Given the description of an element on the screen output the (x, y) to click on. 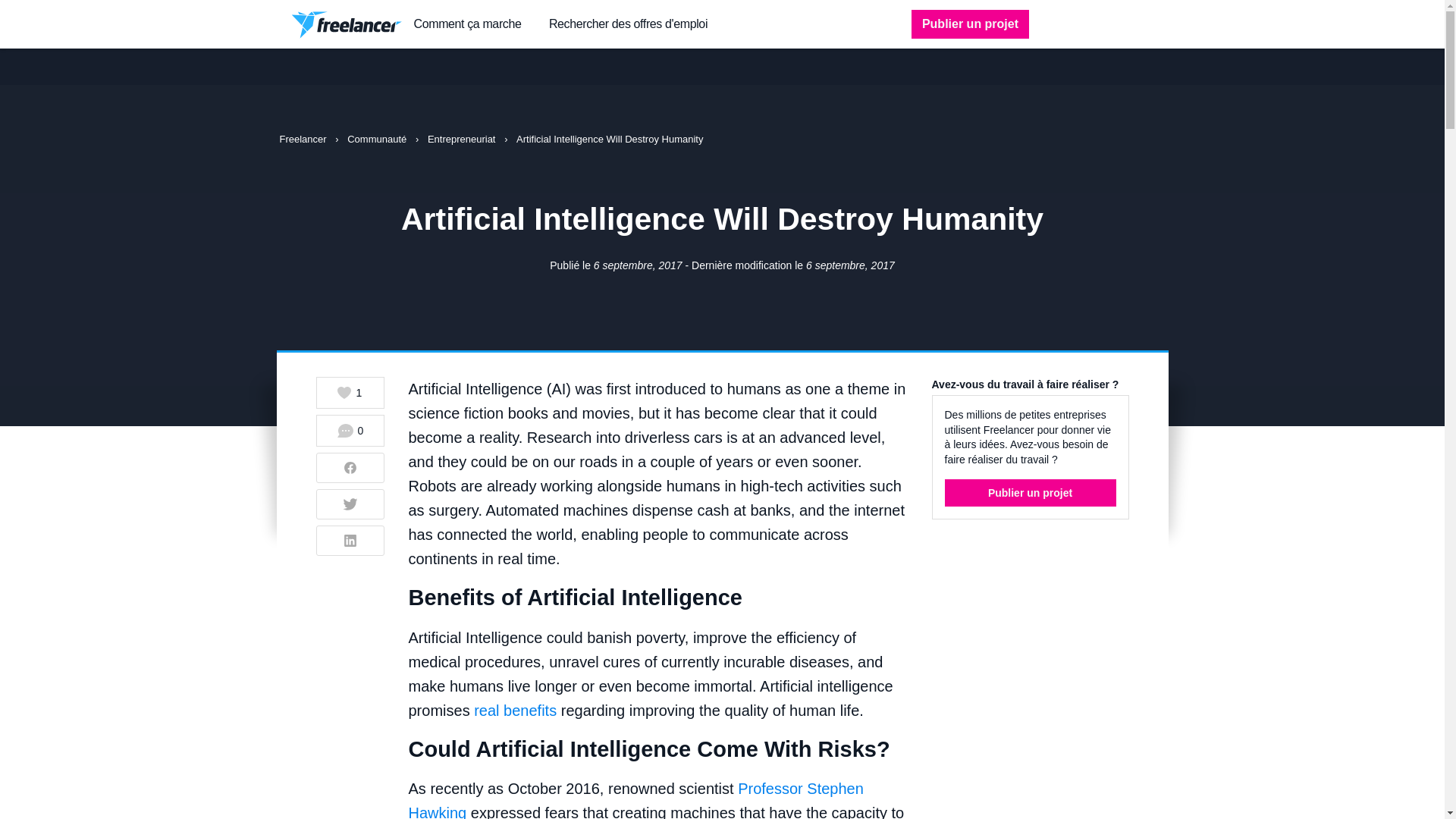
Partager sur Facebook (349, 467)
Freelancer (304, 138)
real benefits (515, 710)
0 (349, 430)
Votes des utilisateurs (348, 393)
Partager sur LinkedIn (349, 540)
Artificial Intelligence Will Destroy Humanity (609, 138)
Rechercher des offres d'emploi (627, 24)
Entrepreneuriat (462, 138)
Publier un projet (970, 23)
